Given the description of an element on the screen output the (x, y) to click on. 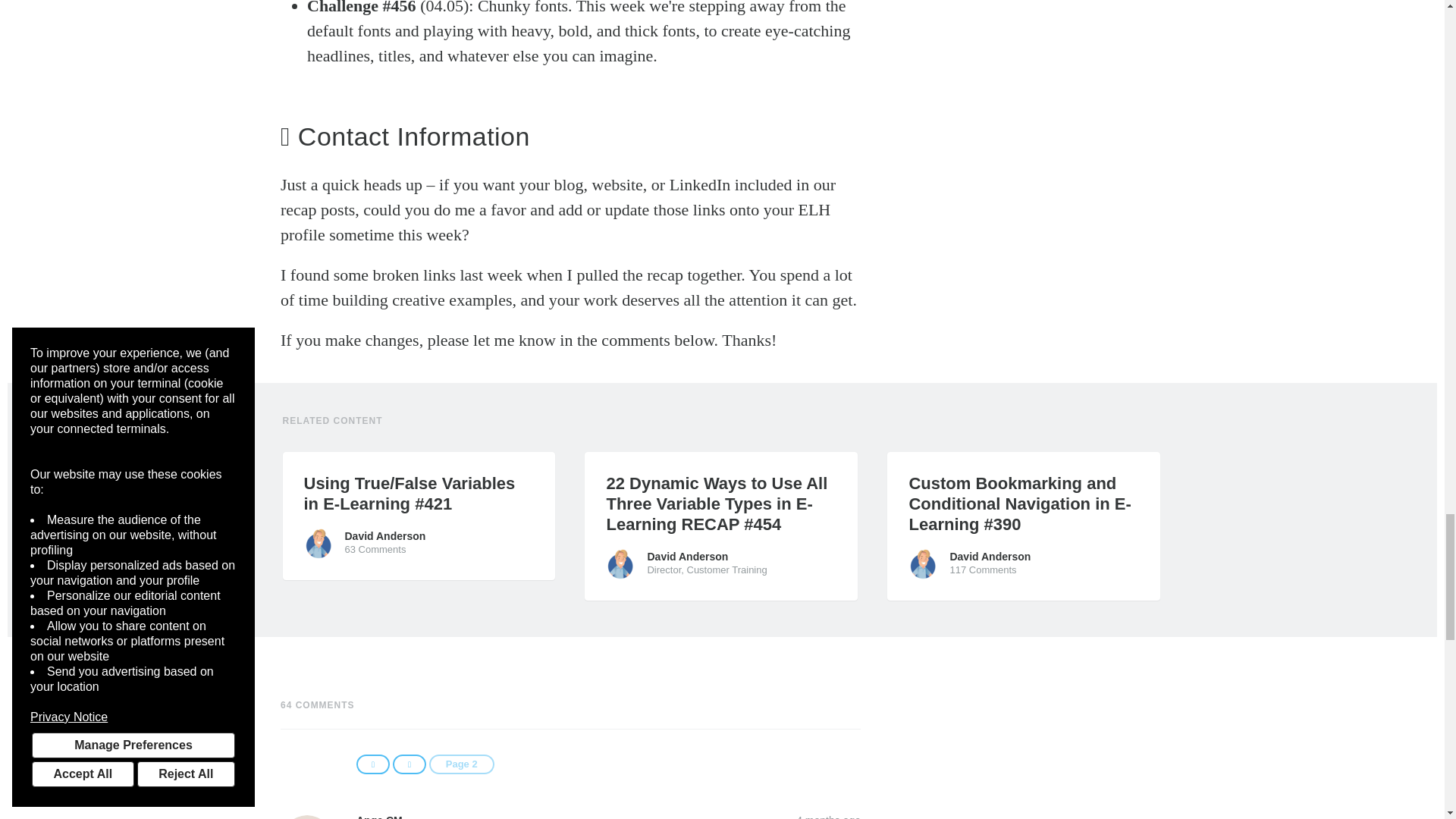
Ange CM (307, 816)
David Anderson (923, 563)
David Anderson (620, 563)
David Anderson (317, 543)
